Given the description of an element on the screen output the (x, y) to click on. 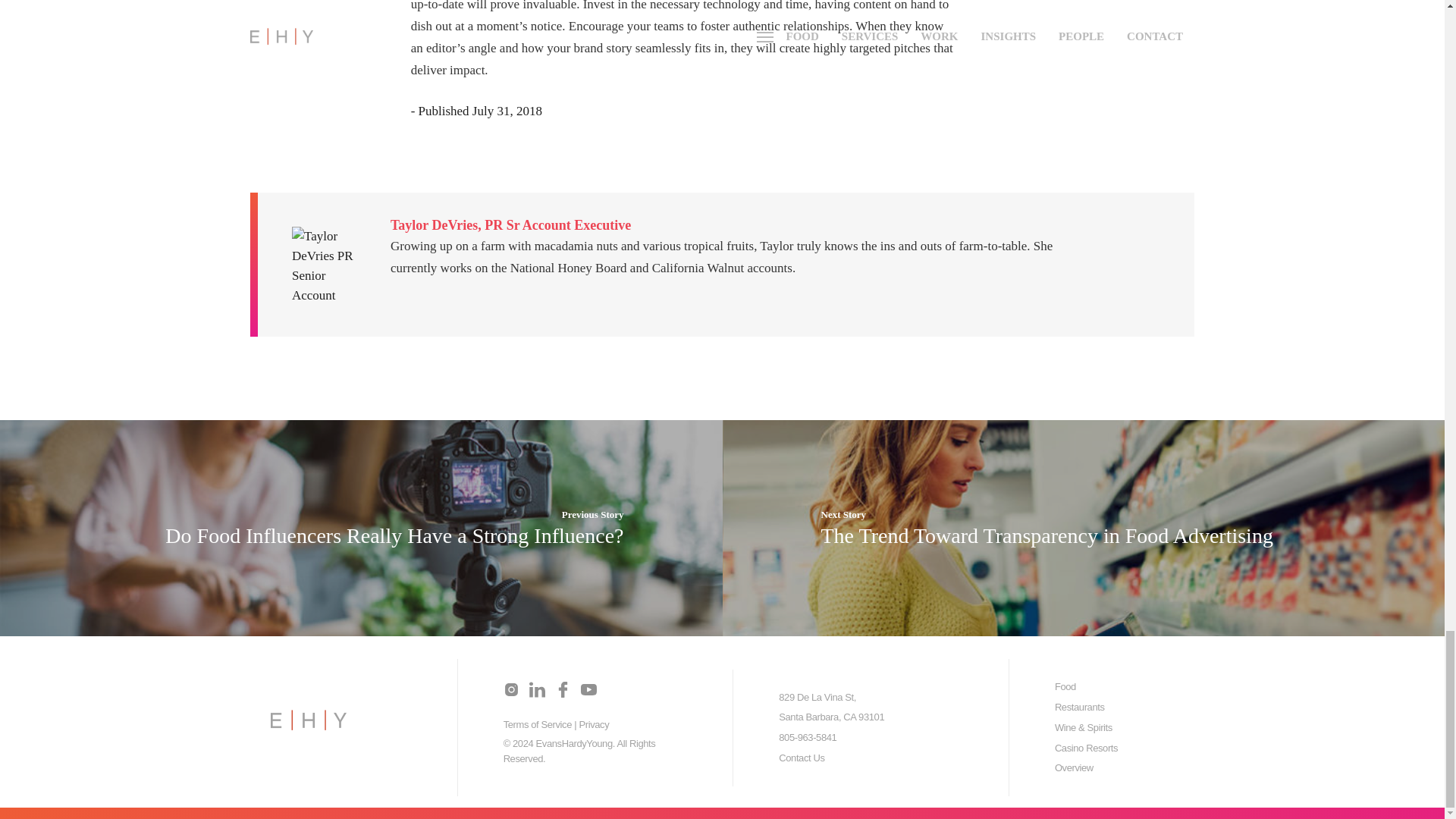
Food (1064, 686)
Privacy (593, 724)
Overview (1073, 767)
Contact Us (801, 757)
805-963-5841 (806, 737)
Restaurants (1079, 706)
Terms of Service (537, 724)
Casino Resorts (1086, 747)
